Given the description of an element on the screen output the (x, y) to click on. 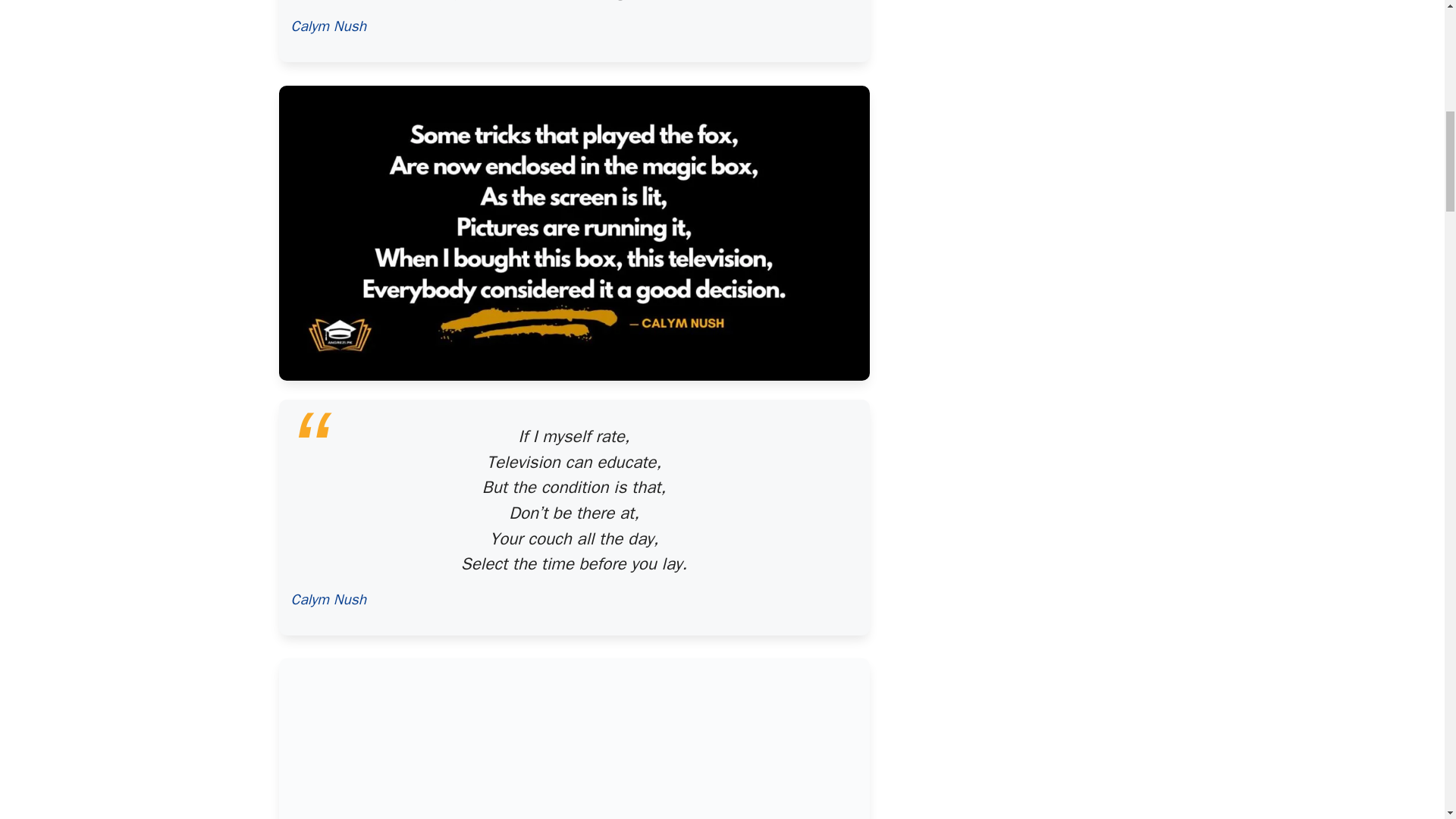
Scroll back to top (1406, 720)
